Given the description of an element on the screen output the (x, y) to click on. 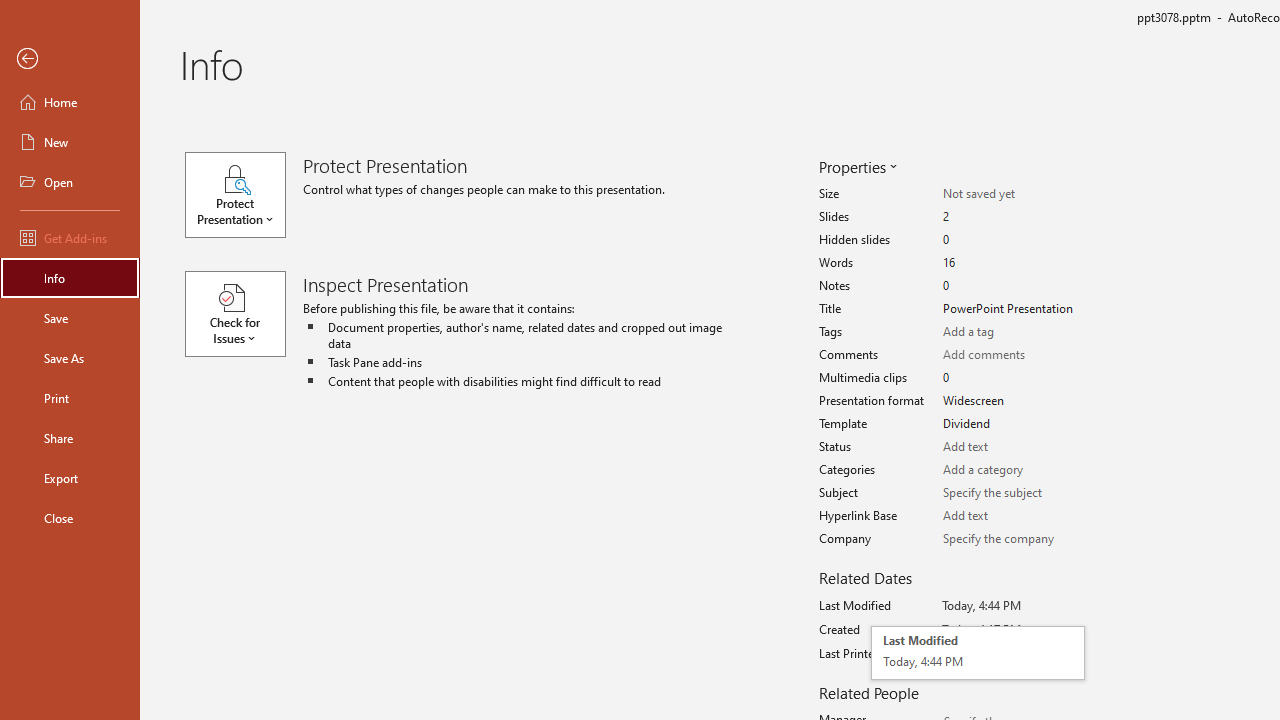
Export (69, 477)
Print (69, 398)
Status (1012, 447)
New (977, 652)
Hyperlink Base (69, 141)
Template (1012, 516)
Protect Presentation (1012, 424)
Get Add-ins (244, 194)
Presentation format (69, 237)
Subject (1012, 401)
Words (1012, 493)
